Given the description of an element on the screen output the (x, y) to click on. 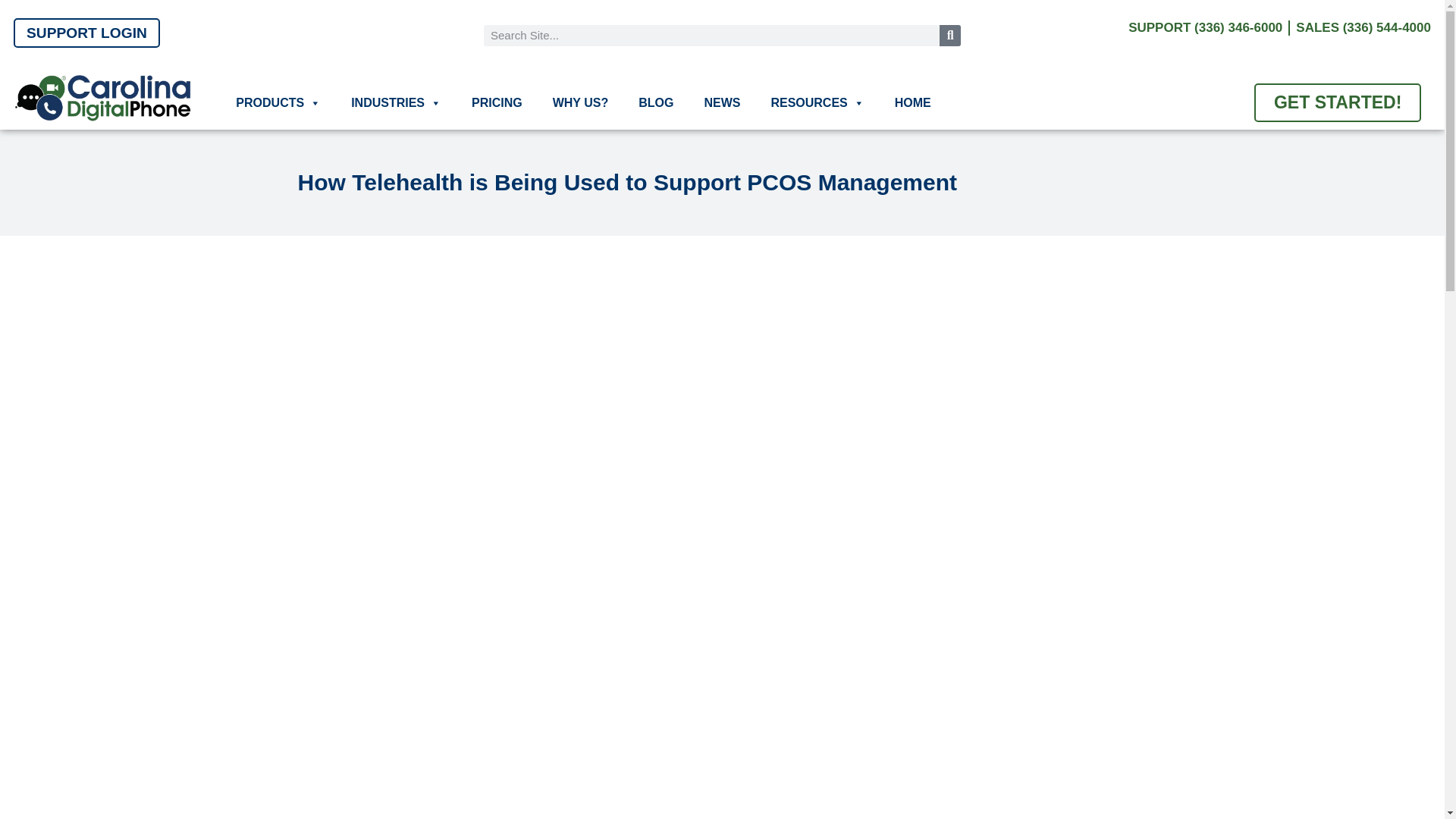
PRICING (496, 103)
PRODUCTS (278, 103)
WHY US? (579, 103)
SUPPORT LOGIN (86, 32)
RESOURCES (816, 103)
INDUSTRIES (395, 103)
BLOG (655, 103)
NEWS (721, 103)
